Given the description of an element on the screen output the (x, y) to click on. 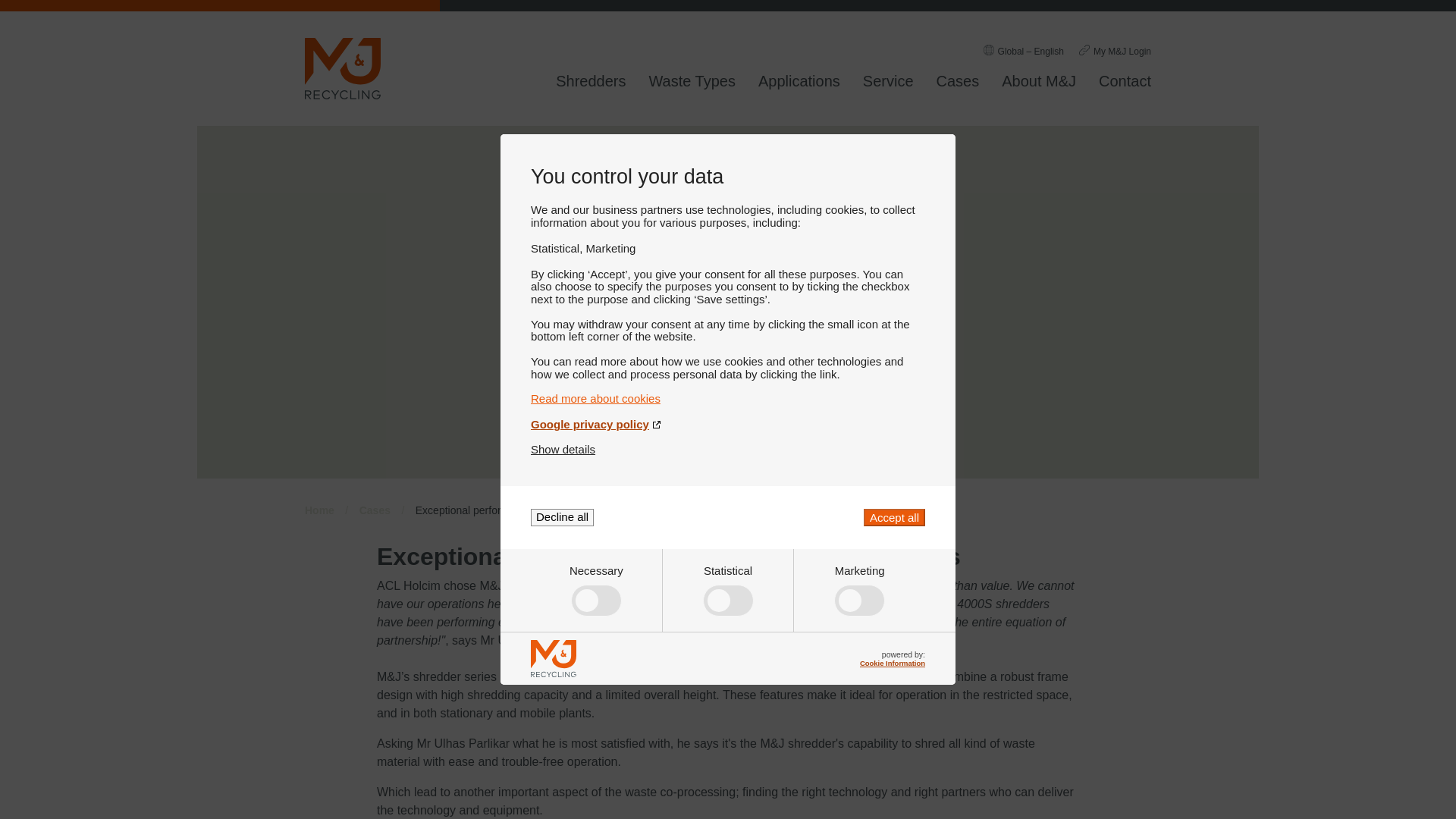
Accept all (893, 517)
Cookie Information (892, 663)
Show details (563, 449)
Read more about cookies (727, 398)
Google privacy policy (727, 423)
Decline all (562, 517)
